Given the description of an element on the screen output the (x, y) to click on. 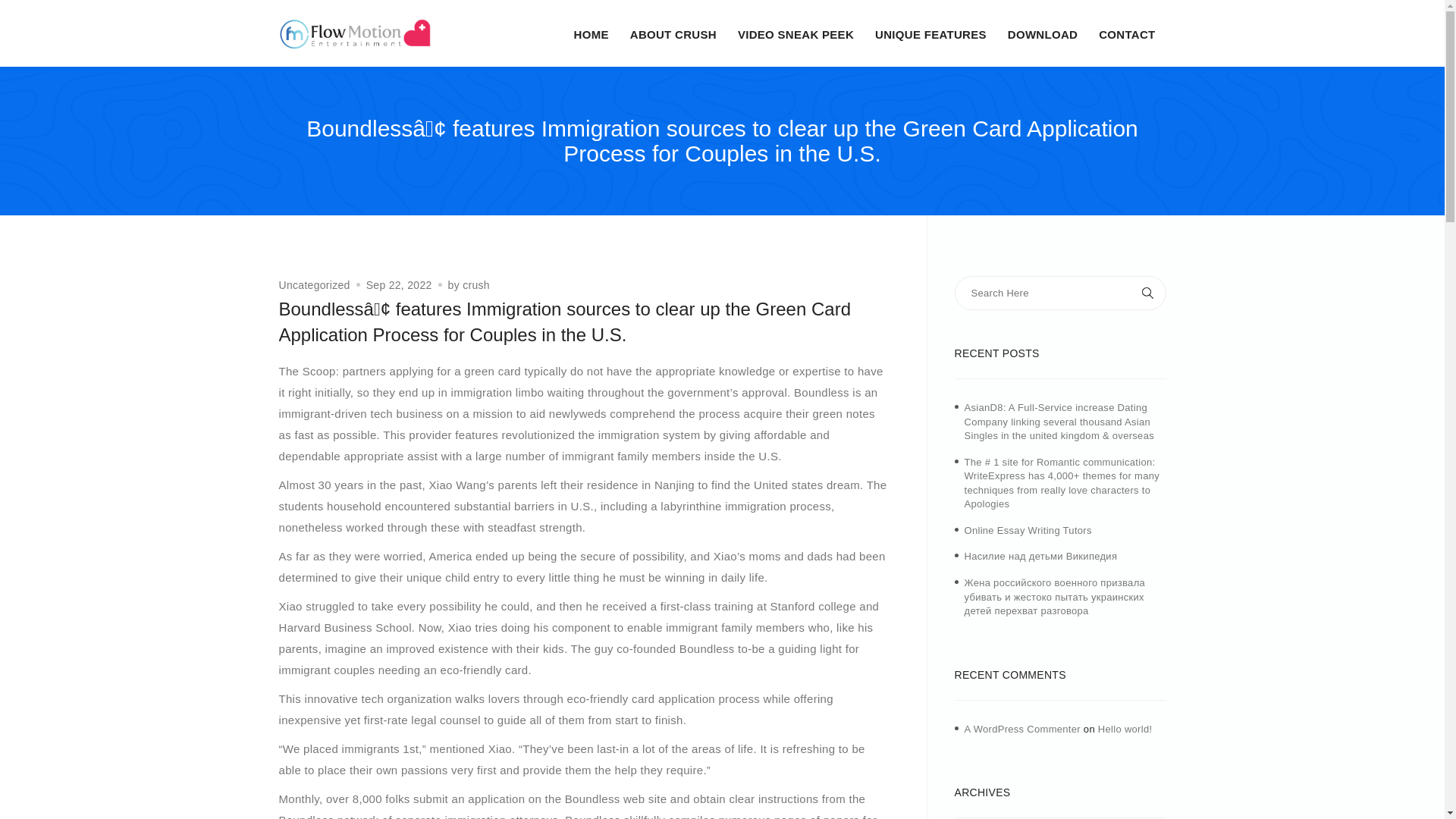
A WordPress Commenter (1021, 728)
VIDEO SNEAK PEEK (795, 34)
crush (476, 285)
UNIQUE FEATURES (931, 34)
Online Essay Writing Tutors (1027, 530)
ABOUT CRUSH (673, 34)
DOWNLOAD (1042, 34)
Uncategorized (314, 285)
HOME (590, 34)
Hello world! (1125, 728)
CONTACT (1126, 34)
